Given the description of an element on the screen output the (x, y) to click on. 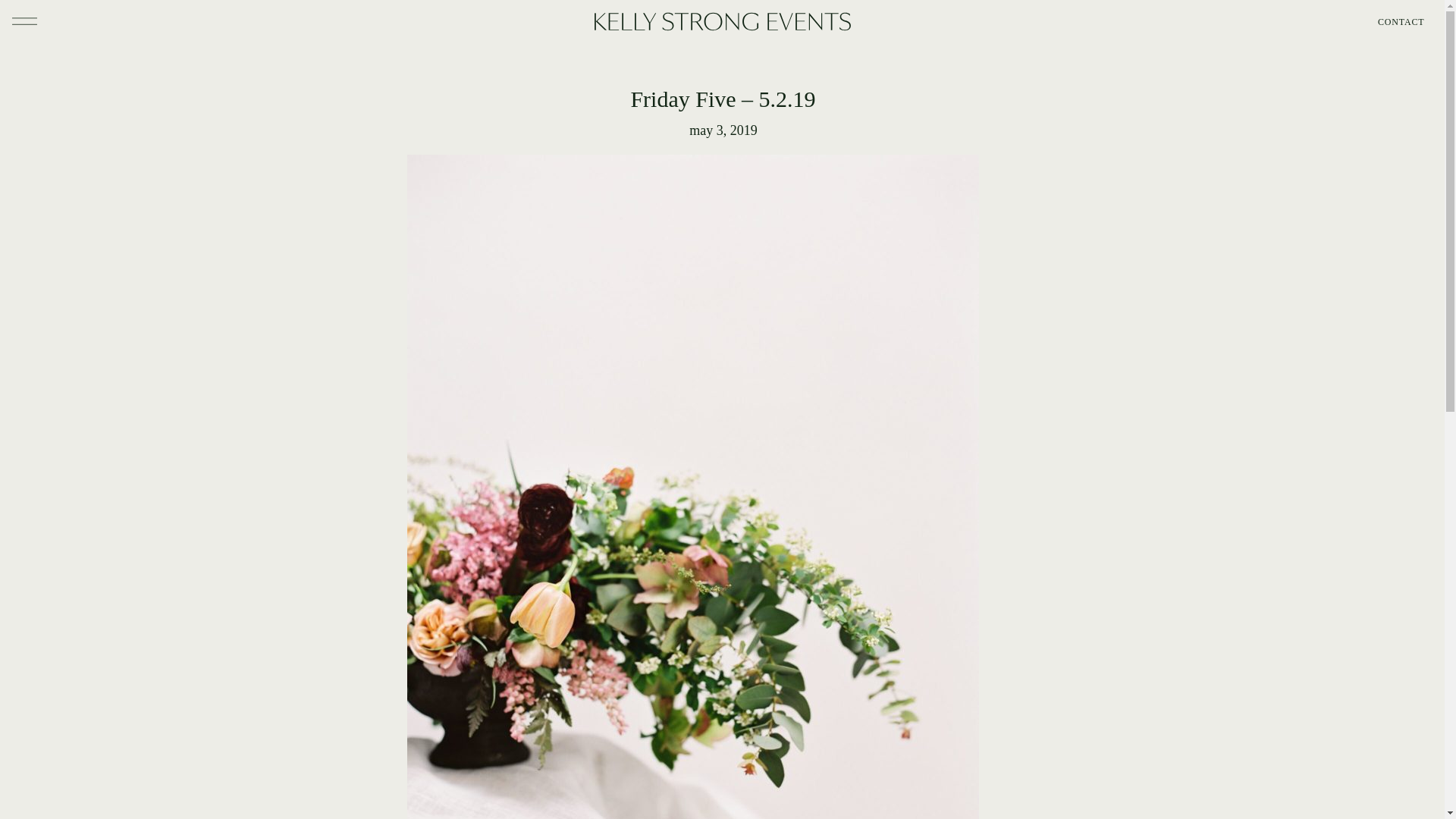
CONTACT (1382, 20)
